Given the description of an element on the screen output the (x, y) to click on. 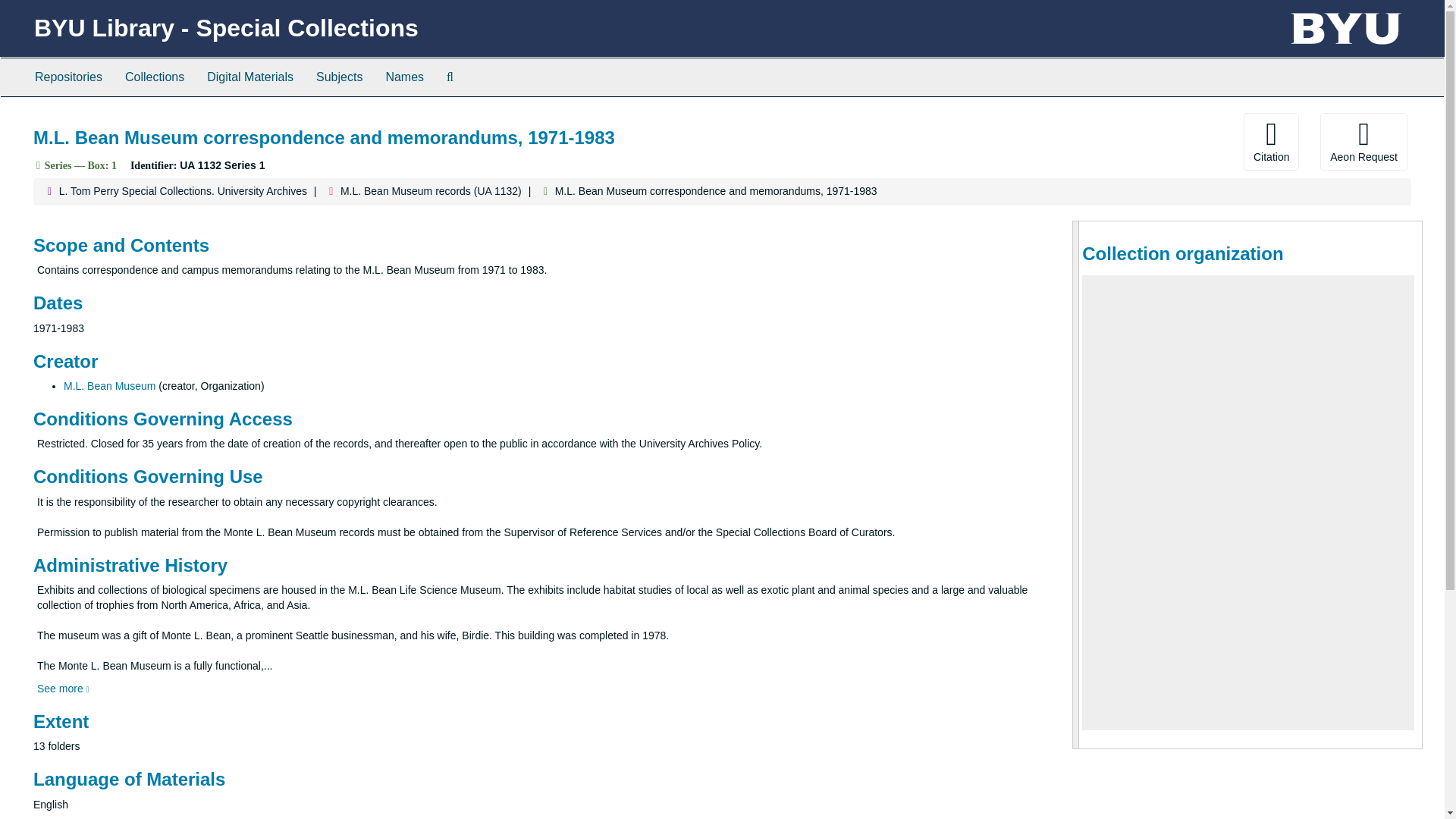
See more (62, 688)
Search The Archives (449, 77)
Page Actions (1130, 141)
Collections (154, 77)
Names (404, 77)
Repositories (68, 77)
Aeon Request (1363, 141)
M.L. Bean Museum (109, 386)
Return to the homepage (226, 27)
L. Tom Perry Special Collections. University Archives (183, 191)
Aeon Request (1363, 141)
Search The Archives (449, 77)
Digital Materials (249, 77)
Citation (1270, 141)
